Given the description of an element on the screen output the (x, y) to click on. 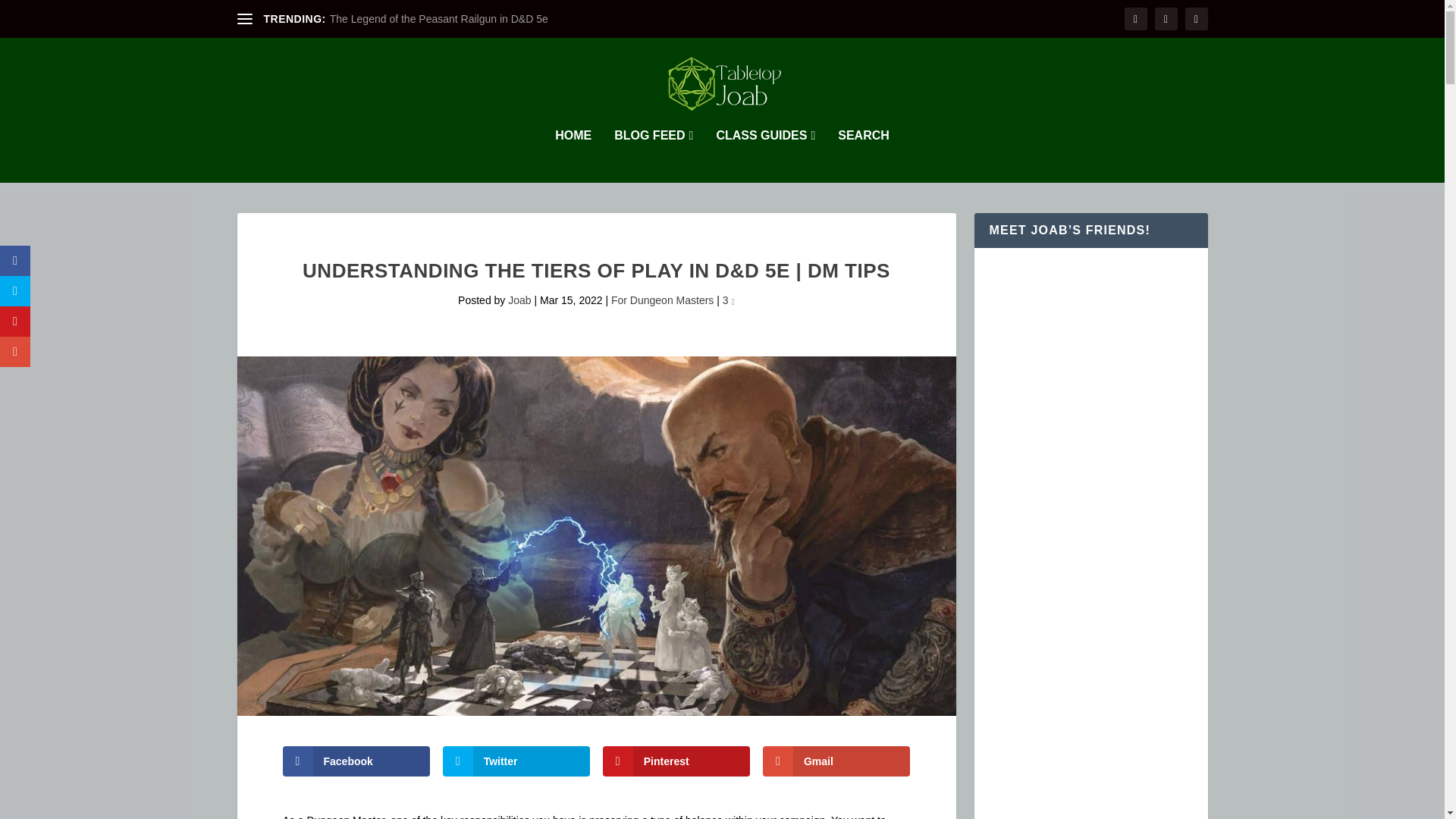
3 (728, 300)
Gmail (836, 761)
Pinterest (676, 761)
For Dungeon Masters (662, 300)
Joab (519, 300)
SEARCH (863, 155)
CLASS GUIDES (765, 155)
Facebook (355, 761)
Twitter (516, 761)
Posts by Joab (519, 300)
BLOG FEED (653, 155)
